Given the description of an element on the screen output the (x, y) to click on. 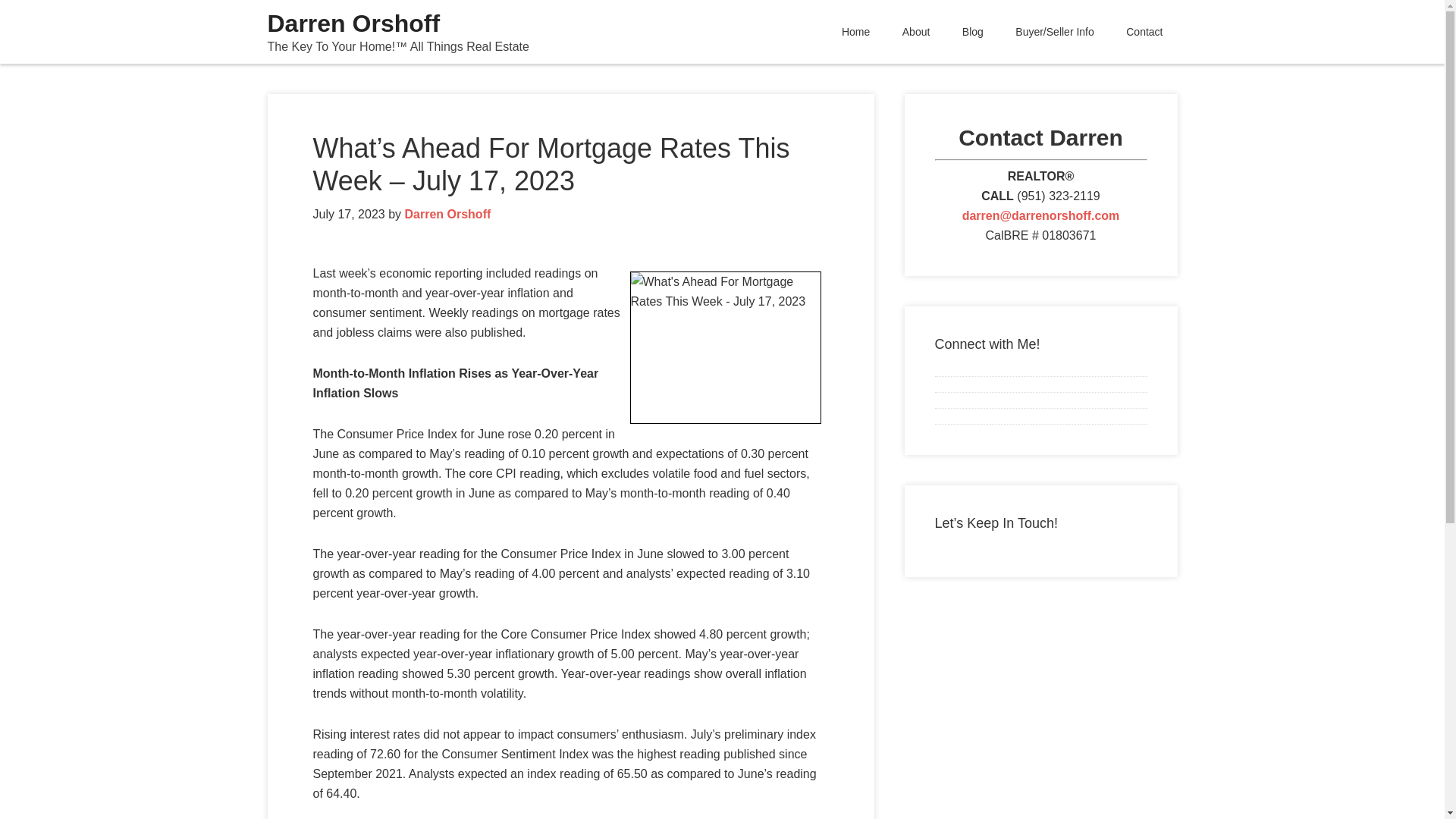
Home (855, 31)
Blog (972, 31)
Contact (1144, 31)
Darren Orshoff (447, 214)
About (916, 31)
Darren Orshoff (352, 22)
